Given the description of an element on the screen output the (x, y) to click on. 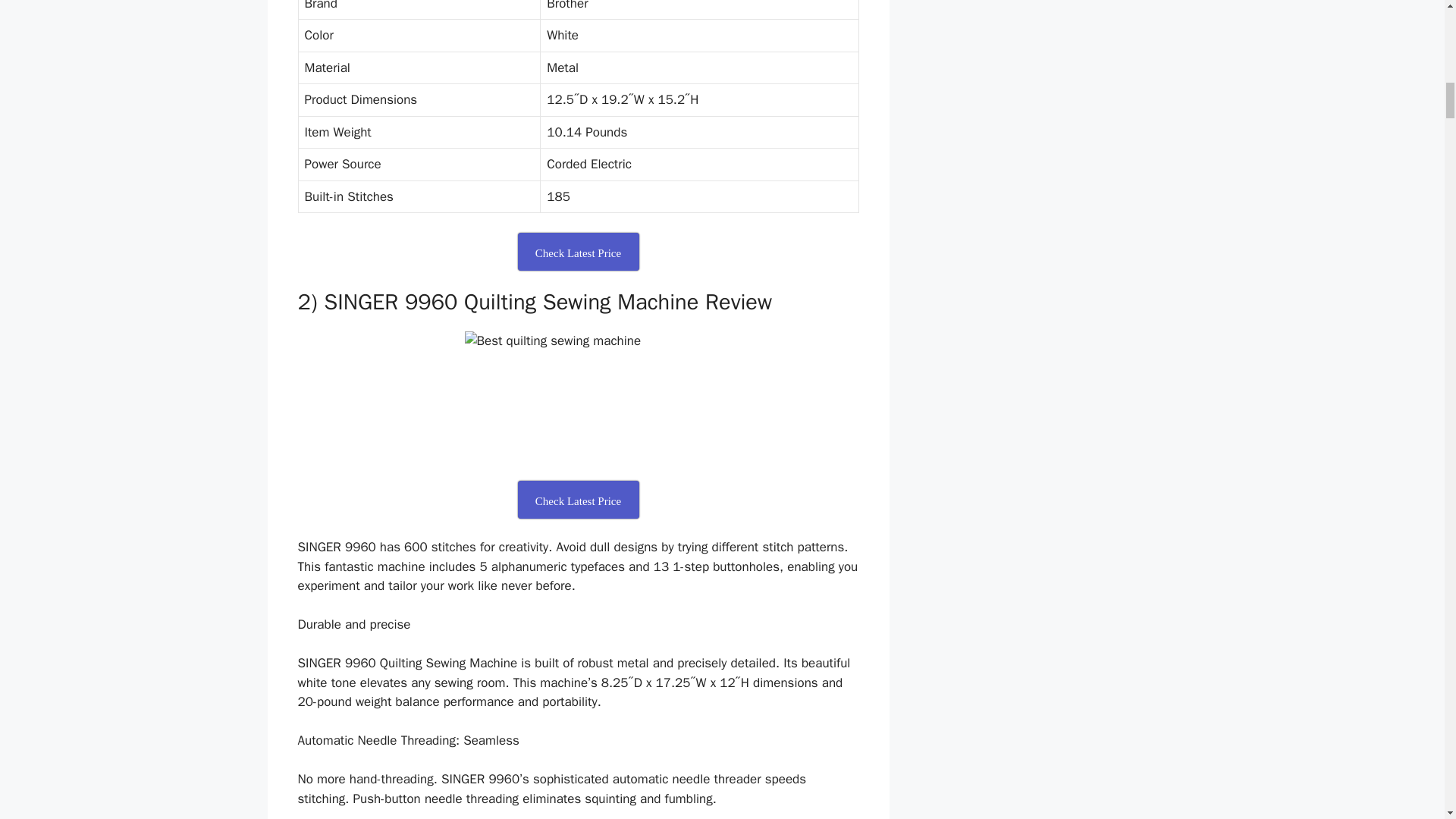
Check Latest Price (577, 251)
Check Latest Price (577, 499)
